Given the description of an element on the screen output the (x, y) to click on. 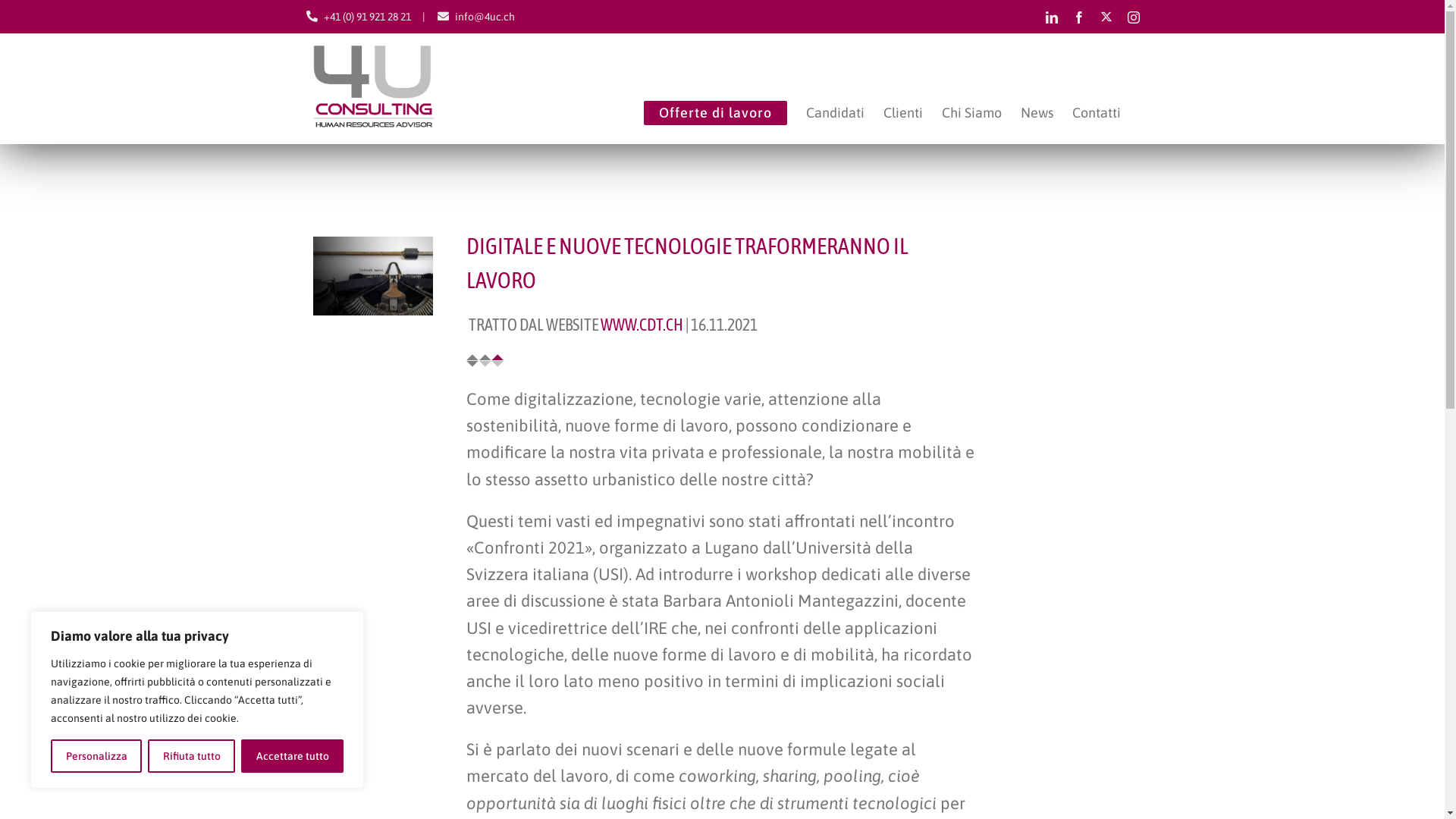
Chi Siamo Element type: text (971, 111)
+41 (0) 91 921 28 21 Element type: text (366, 16)
Accettare tutto Element type: text (292, 755)
Contatti Element type: text (1096, 111)
Offerte di lavoro Element type: text (714, 111)
LinkedIn Element type: text (1050, 17)
Personalizza Element type: text (95, 755)
Twitter Element type: text (1105, 16)
Candidati Element type: text (834, 111)
WWW.CDT.CH Element type: text (641, 324)
info@4uc.ch Element type: text (484, 16)
News Element type: text (1036, 111)
Instagram Element type: text (1132, 17)
Facebook Element type: text (1078, 17)
Clienti Element type: text (902, 111)
divider Element type: hover (485, 360)
Rifiuta tutto Element type: text (191, 755)
header-news Element type: hover (372, 275)
